Given the description of an element on the screen output the (x, y) to click on. 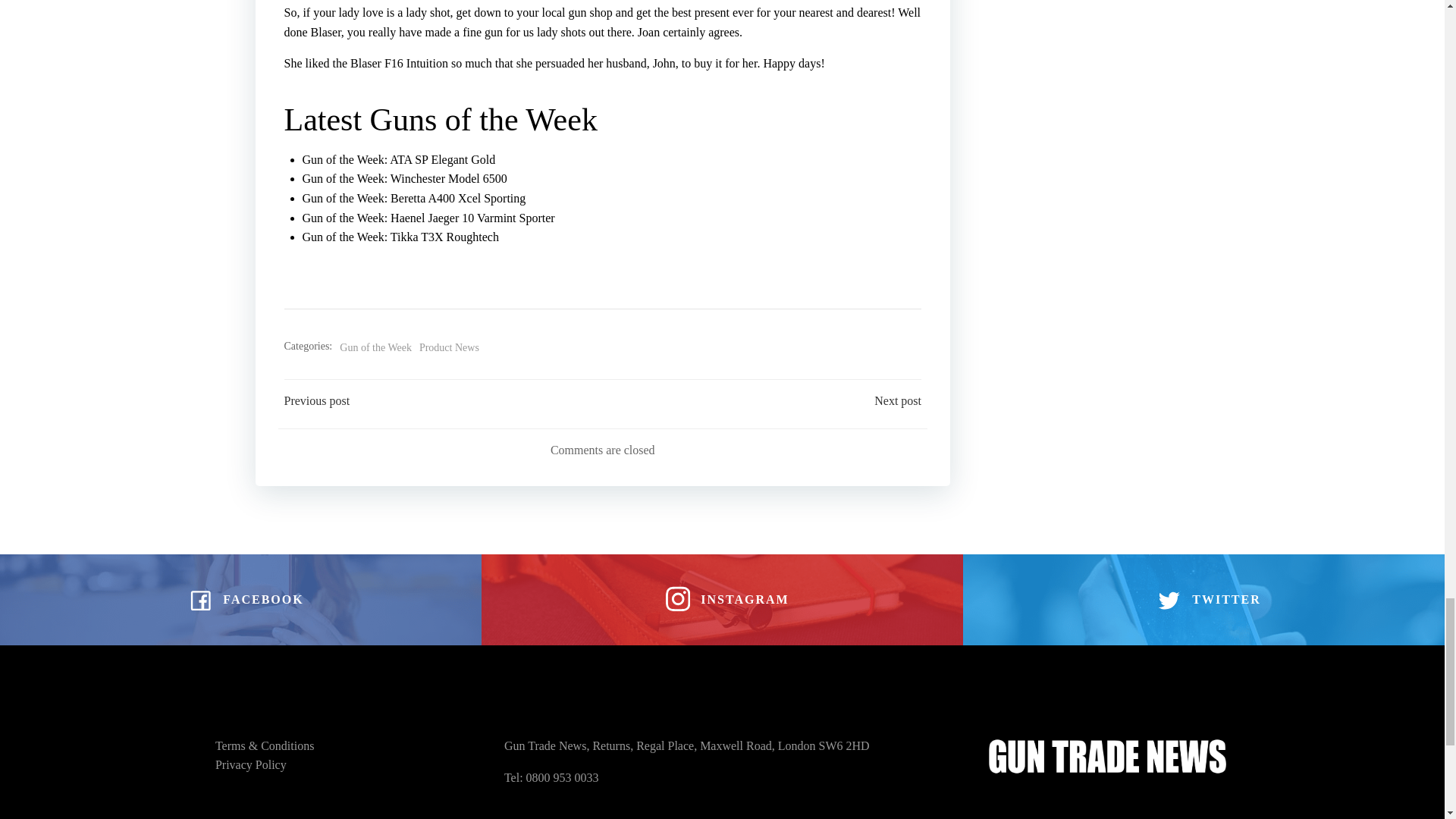
Product News (449, 347)
Gun of the Week: Winchester Model 6500 (403, 178)
Next post (898, 401)
INSTAGRAM (722, 599)
FACEBOOK (239, 599)
Gun of the Week: ATA SP Elegant Gold (398, 159)
Privacy Policy (250, 764)
Gun of the Week: Tikka T3X Roughtech (399, 236)
Gun of the Week: Haenel Jaeger 10 Varmint Sporter (427, 216)
TWITTER (1203, 599)
